Given the description of an element on the screen output the (x, y) to click on. 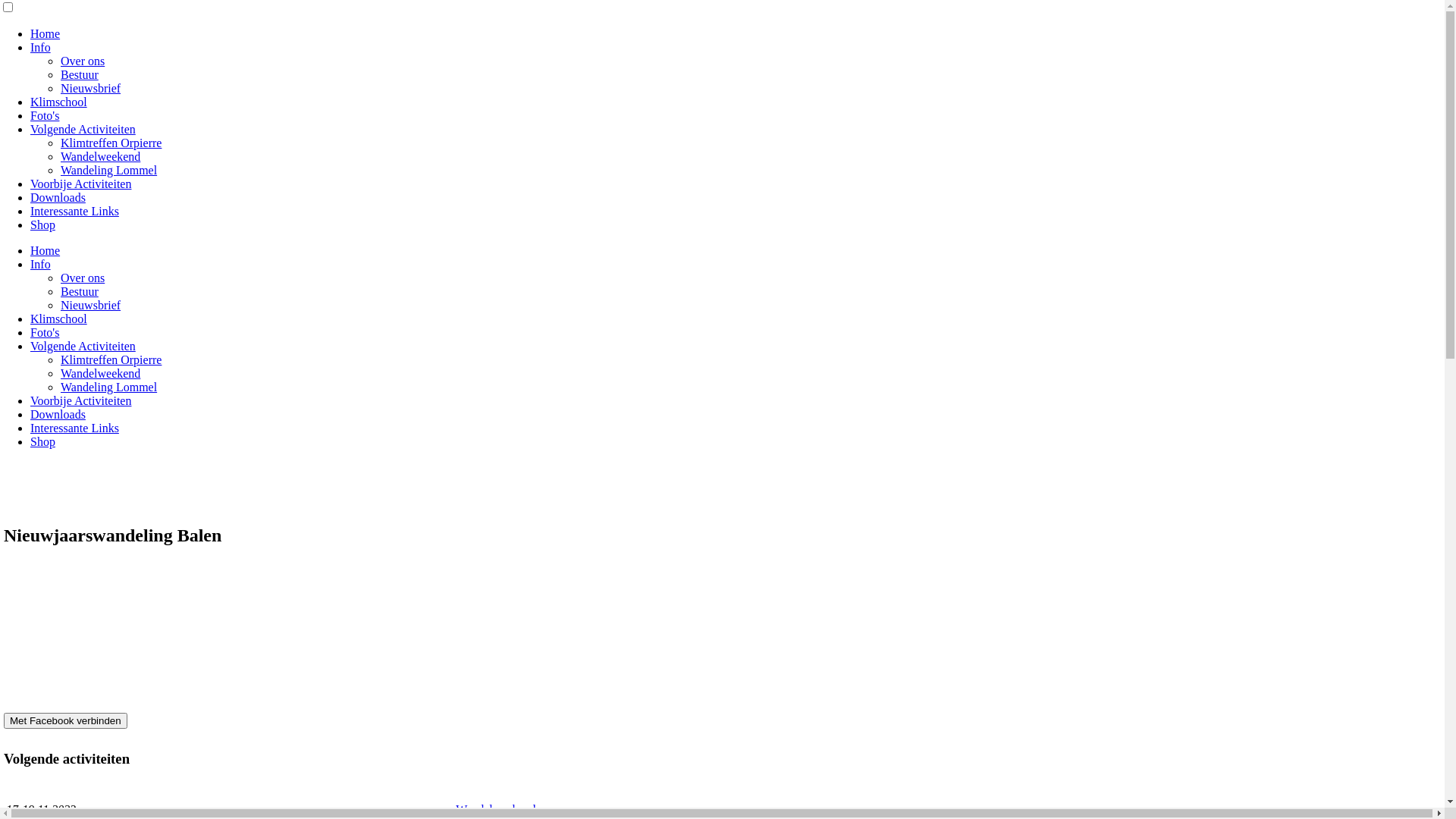
Klimschool Element type: text (58, 101)
Bestuur Element type: text (79, 291)
Home Element type: text (44, 33)
Foto's Element type: text (44, 115)
Klimtreffen Orpierre Element type: text (110, 142)
Interessante Links Element type: text (74, 210)
Foto's Element type: text (44, 332)
Shop Element type: text (42, 441)
Info Element type: text (40, 263)
Interessante Links Element type: text (74, 427)
Info Element type: text (40, 46)
Wandelweekend Element type: text (495, 809)
Wandeling Lommel Element type: text (108, 386)
Wandelweekend Element type: text (100, 373)
Downloads Element type: text (57, 413)
Volgende Activiteiten Element type: text (82, 128)
Shop Element type: text (42, 224)
Over ons Element type: text (82, 277)
Met Facebook verbinden Element type: text (65, 720)
Bestuur Element type: text (79, 74)
Klimschool Element type: text (58, 318)
Wandelweekend Element type: text (100, 156)
Wandeling Lommel Element type: text (108, 169)
Over ons Element type: text (82, 60)
Nieuwsbrief Element type: text (90, 304)
Voorbije Activiteiten Element type: text (80, 400)
Klimtreffen Orpierre Element type: text (110, 359)
Volgende Activiteiten Element type: text (82, 345)
Voorbije Activiteiten Element type: text (80, 183)
Home Element type: text (44, 250)
Nieuwsbrief Element type: text (90, 87)
Downloads Element type: text (57, 197)
